Given the description of an element on the screen output the (x, y) to click on. 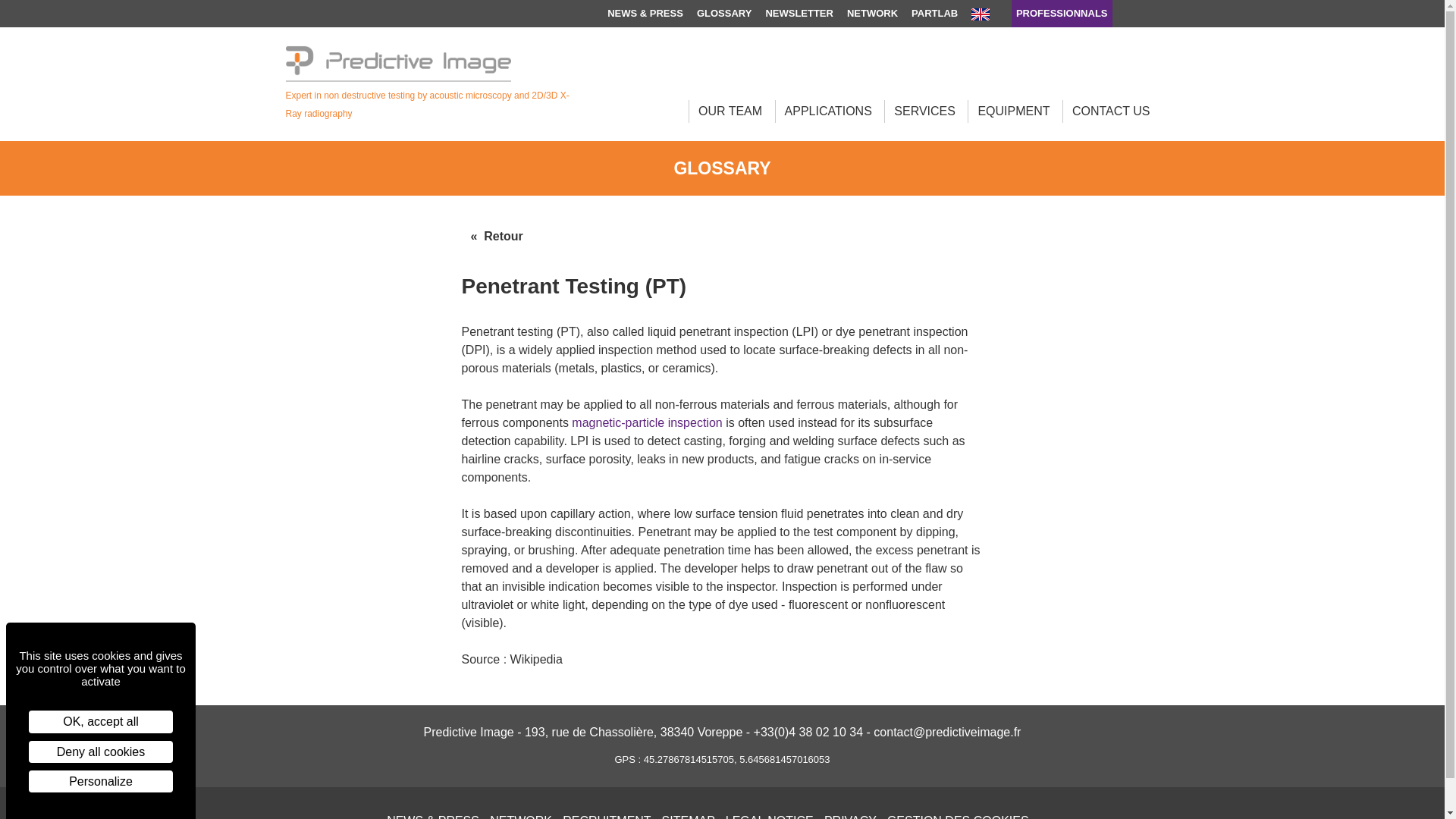
NEWSLETTER (799, 13)
magnetic-particle inspection (647, 422)
PRIVACY (850, 816)
GESTION DES COOKIES (957, 816)
PROFESSIONNALS (1061, 13)
RECRUITMENT (606, 816)
ENGLISH (986, 13)
PARTLAB (934, 13)
NETWORK (872, 13)
GLOSSARY (724, 13)
LEGAL NOTICE (769, 816)
APPLICATIONS (828, 110)
NETWORK (520, 816)
EQUIPMENT (1013, 110)
OUR TEAM (729, 110)
